Given the description of an element on the screen output the (x, y) to click on. 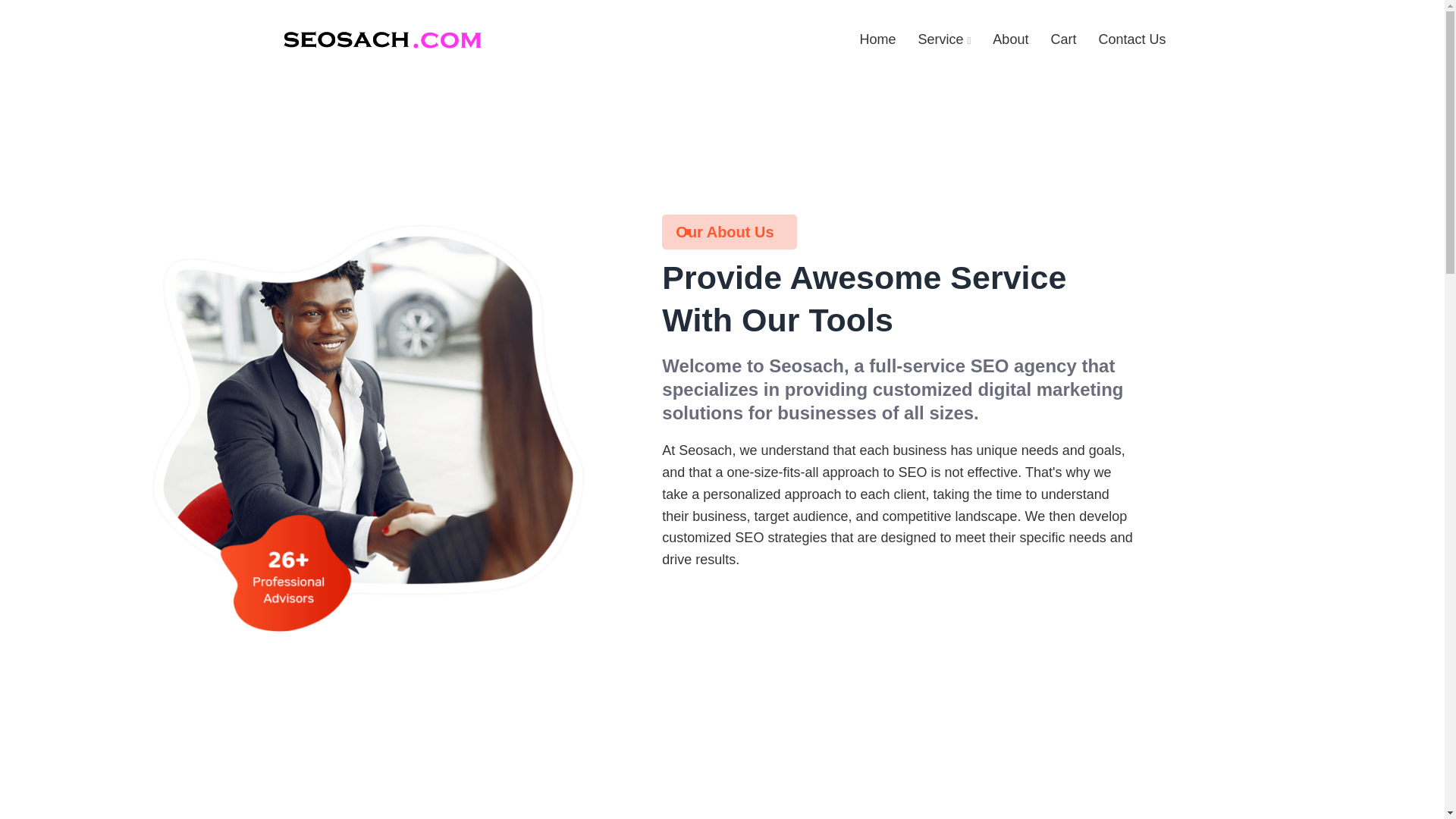
About (1009, 39)
Cart (1062, 39)
Home (878, 39)
SeoSach (381, 39)
Contact Us (1131, 39)
Service (944, 39)
